Given the description of an element on the screen output the (x, y) to click on. 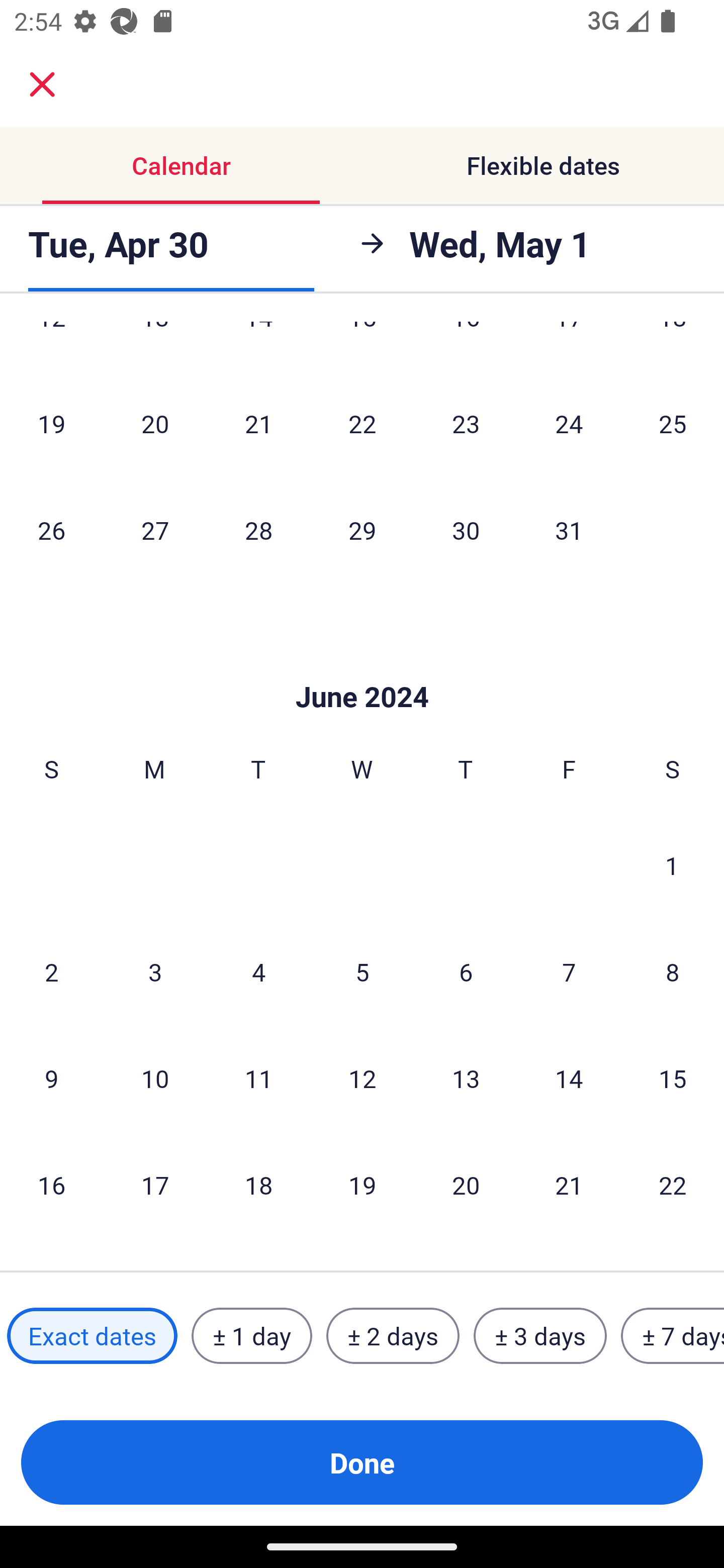
close. (42, 84)
Flexible dates (542, 164)
19 Sunday, May 19, 2024 (51, 423)
20 Monday, May 20, 2024 (155, 423)
21 Tuesday, May 21, 2024 (258, 423)
22 Wednesday, May 22, 2024 (362, 423)
23 Thursday, May 23, 2024 (465, 423)
24 Friday, May 24, 2024 (569, 423)
25 Saturday, May 25, 2024 (672, 423)
26 Sunday, May 26, 2024 (51, 529)
27 Monday, May 27, 2024 (155, 529)
28 Tuesday, May 28, 2024 (258, 529)
29 Wednesday, May 29, 2024 (362, 529)
30 Thursday, May 30, 2024 (465, 529)
31 Friday, May 31, 2024 (569, 529)
Skip to Done (362, 666)
1 Saturday, June 1, 2024 (672, 865)
2 Sunday, June 2, 2024 (51, 971)
3 Monday, June 3, 2024 (155, 971)
4 Tuesday, June 4, 2024 (258, 971)
5 Wednesday, June 5, 2024 (362, 971)
6 Thursday, June 6, 2024 (465, 971)
7 Friday, June 7, 2024 (569, 971)
8 Saturday, June 8, 2024 (672, 971)
9 Sunday, June 9, 2024 (51, 1078)
10 Monday, June 10, 2024 (155, 1078)
11 Tuesday, June 11, 2024 (258, 1078)
12 Wednesday, June 12, 2024 (362, 1078)
13 Thursday, June 13, 2024 (465, 1078)
14 Friday, June 14, 2024 (569, 1078)
15 Saturday, June 15, 2024 (672, 1078)
16 Sunday, June 16, 2024 (51, 1184)
17 Monday, June 17, 2024 (155, 1184)
18 Tuesday, June 18, 2024 (258, 1184)
19 Wednesday, June 19, 2024 (362, 1184)
20 Thursday, June 20, 2024 (465, 1184)
21 Friday, June 21, 2024 (569, 1184)
22 Saturday, June 22, 2024 (672, 1184)
Exact dates (92, 1335)
± 1 day (251, 1335)
± 2 days (392, 1335)
± 3 days (539, 1335)
± 7 days (672, 1335)
Done (361, 1462)
